Given the description of an element on the screen output the (x, y) to click on. 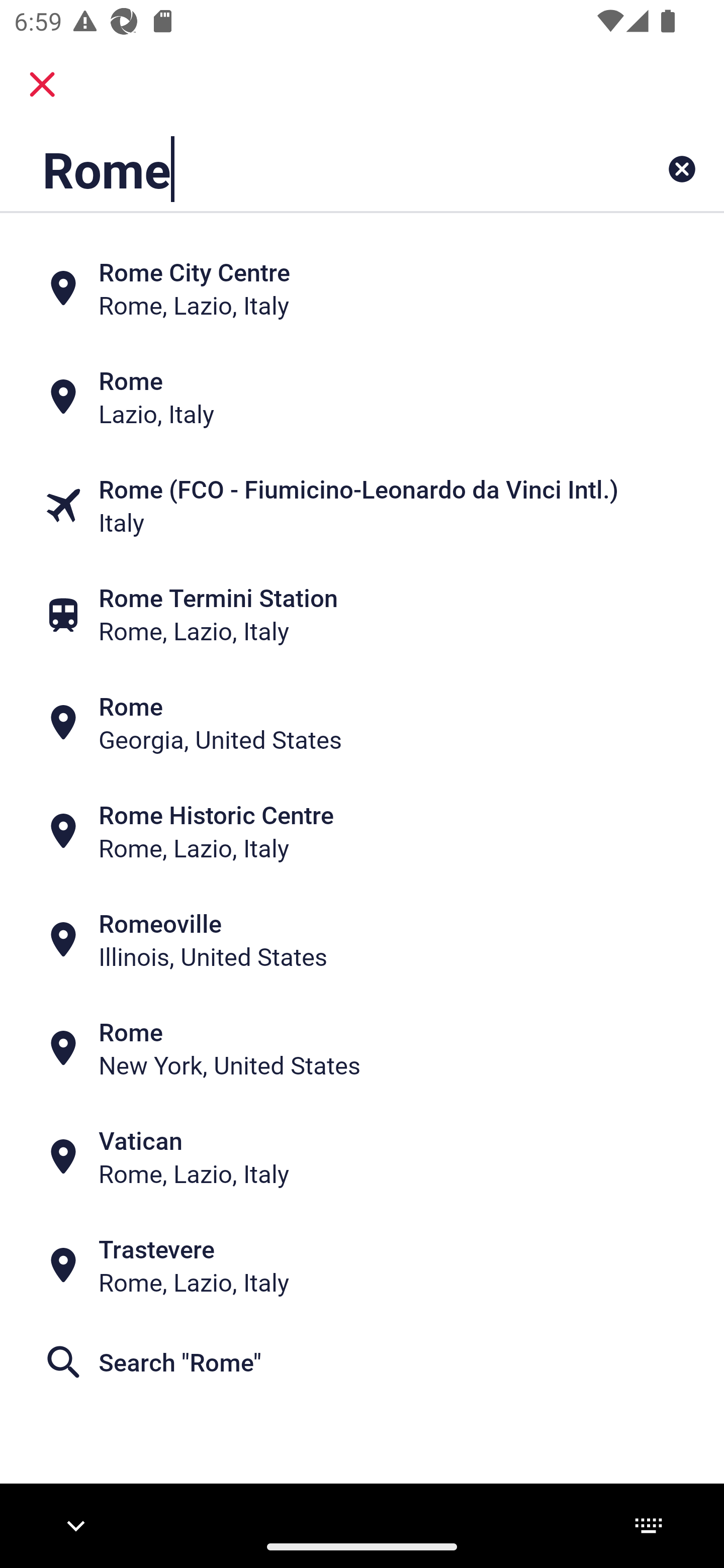
close. (42, 84)
Clear (681, 169)
Rome (298, 169)
Rome City Centre Rome, Lazio, Italy (362, 288)
Rome Lazio, Italy (362, 397)
Rome Termini Station Rome, Lazio, Italy (362, 613)
Rome Georgia, United States (362, 722)
Rome Historic Centre Rome, Lazio, Italy (362, 831)
Romeoville Illinois, United States (362, 939)
Rome New York, United States (362, 1048)
Vatican Rome, Lazio, Italy (362, 1156)
Trastevere Rome, Lazio, Italy (362, 1265)
Search "Rome" (362, 1362)
